Given the description of an element on the screen output the (x, y) to click on. 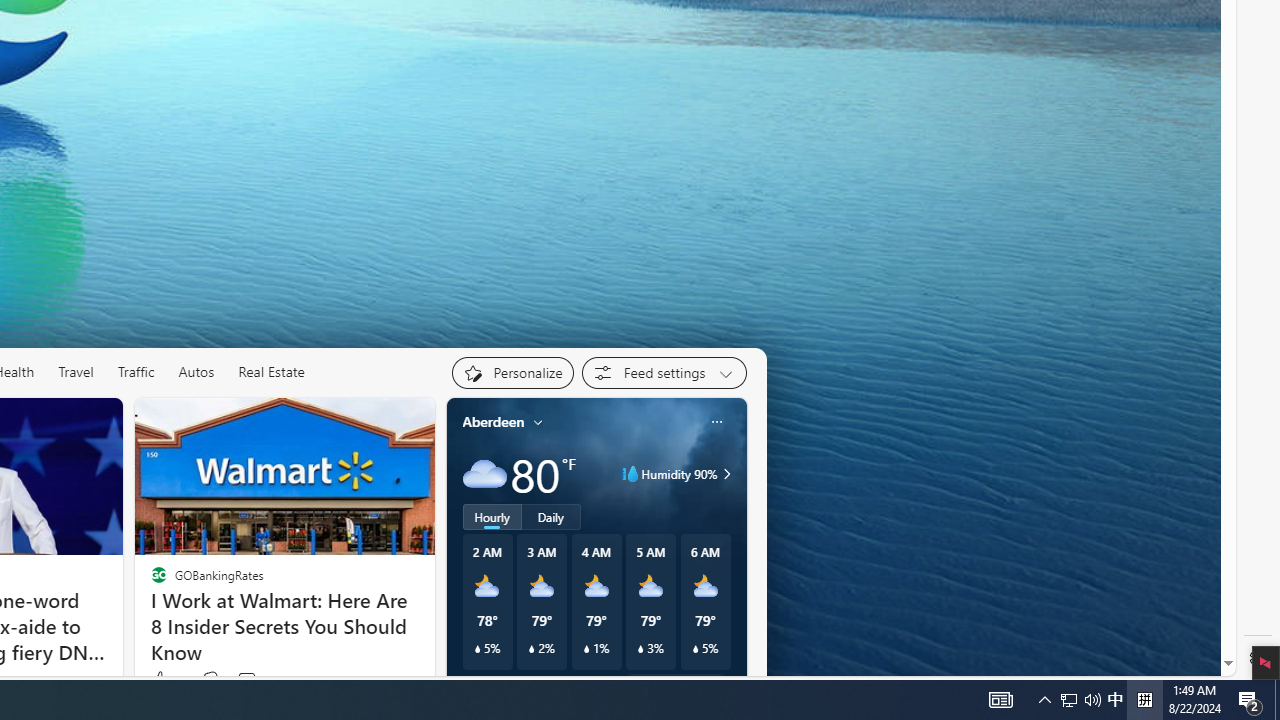
Personalize your feed" (511, 372)
Class: weather-arrow-glyph (726, 474)
My location (538, 421)
Feed settings (664, 372)
2k Like (166, 680)
Daily (550, 516)
View comments 161 Comment (246, 679)
